Given the description of an element on the screen output the (x, y) to click on. 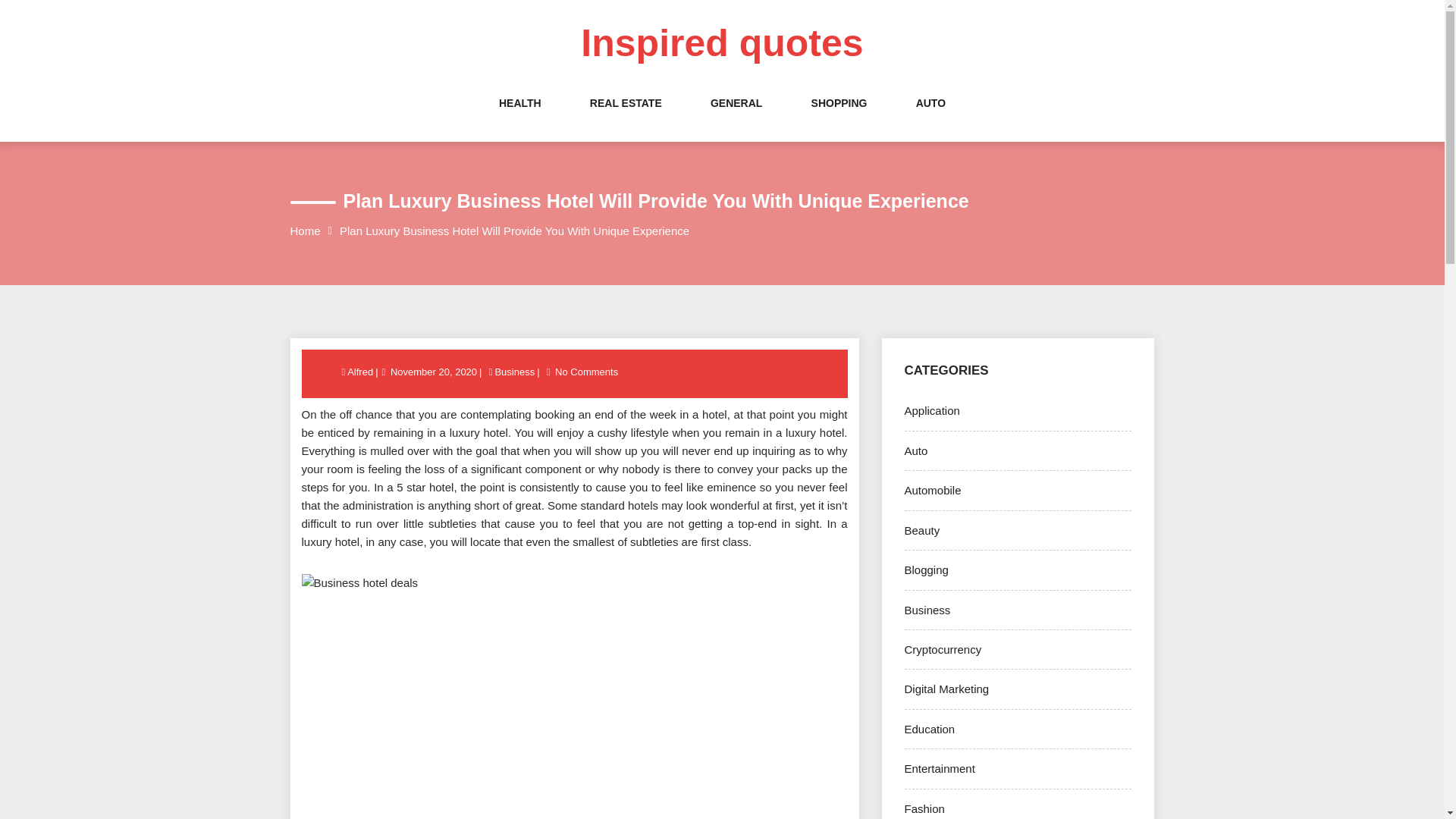
November 20, 2020 (433, 371)
Cryptocurrency (942, 649)
Auto (915, 450)
No Comments (586, 371)
Automobile (932, 490)
Application (931, 410)
HEALTH (520, 118)
Entertainment (939, 768)
Home (304, 230)
REAL ESTATE (625, 118)
